Given the description of an element on the screen output the (x, y) to click on. 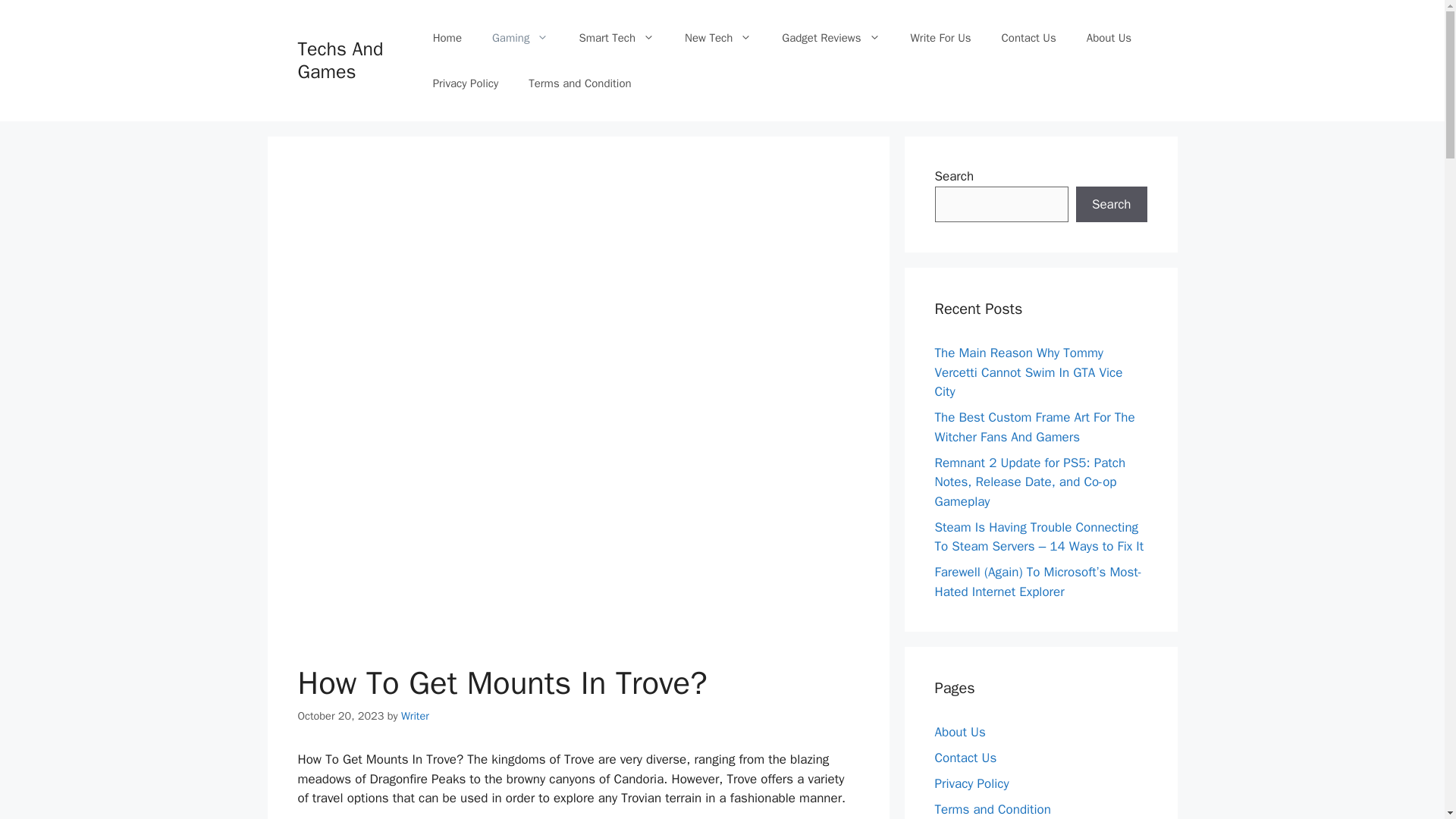
Write For Us (941, 37)
Smart Tech (616, 37)
New Tech (718, 37)
View all posts by Writer (415, 715)
Writer (415, 715)
Contact Us (1029, 37)
Gaming (520, 37)
Terms and Condition (579, 83)
About Us (1109, 37)
Privacy Policy (465, 83)
Techs And Games (339, 59)
Gadget Reviews (831, 37)
Home (447, 37)
